Given the description of an element on the screen output the (x, y) to click on. 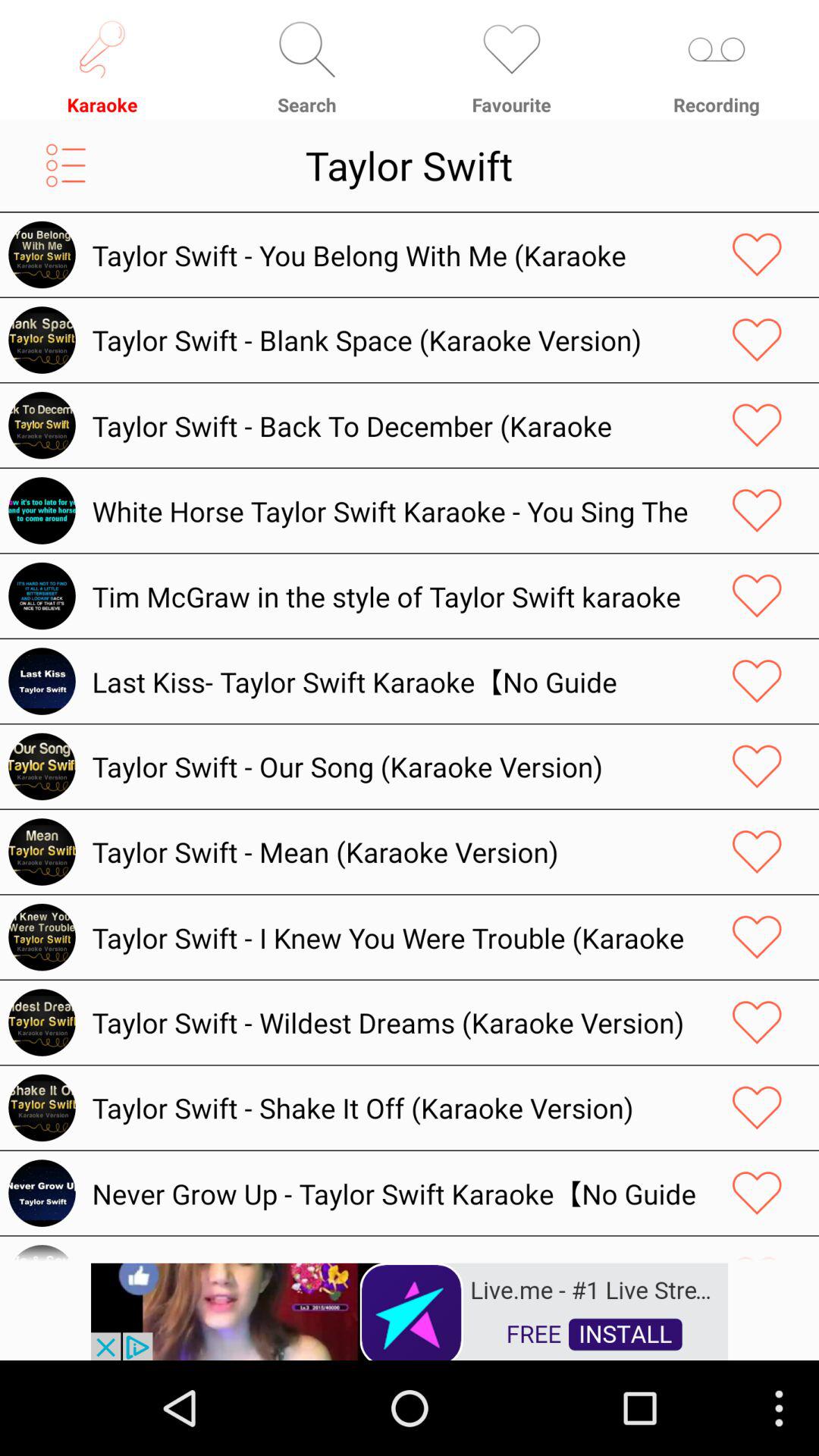
like (756, 681)
